Given the description of an element on the screen output the (x, y) to click on. 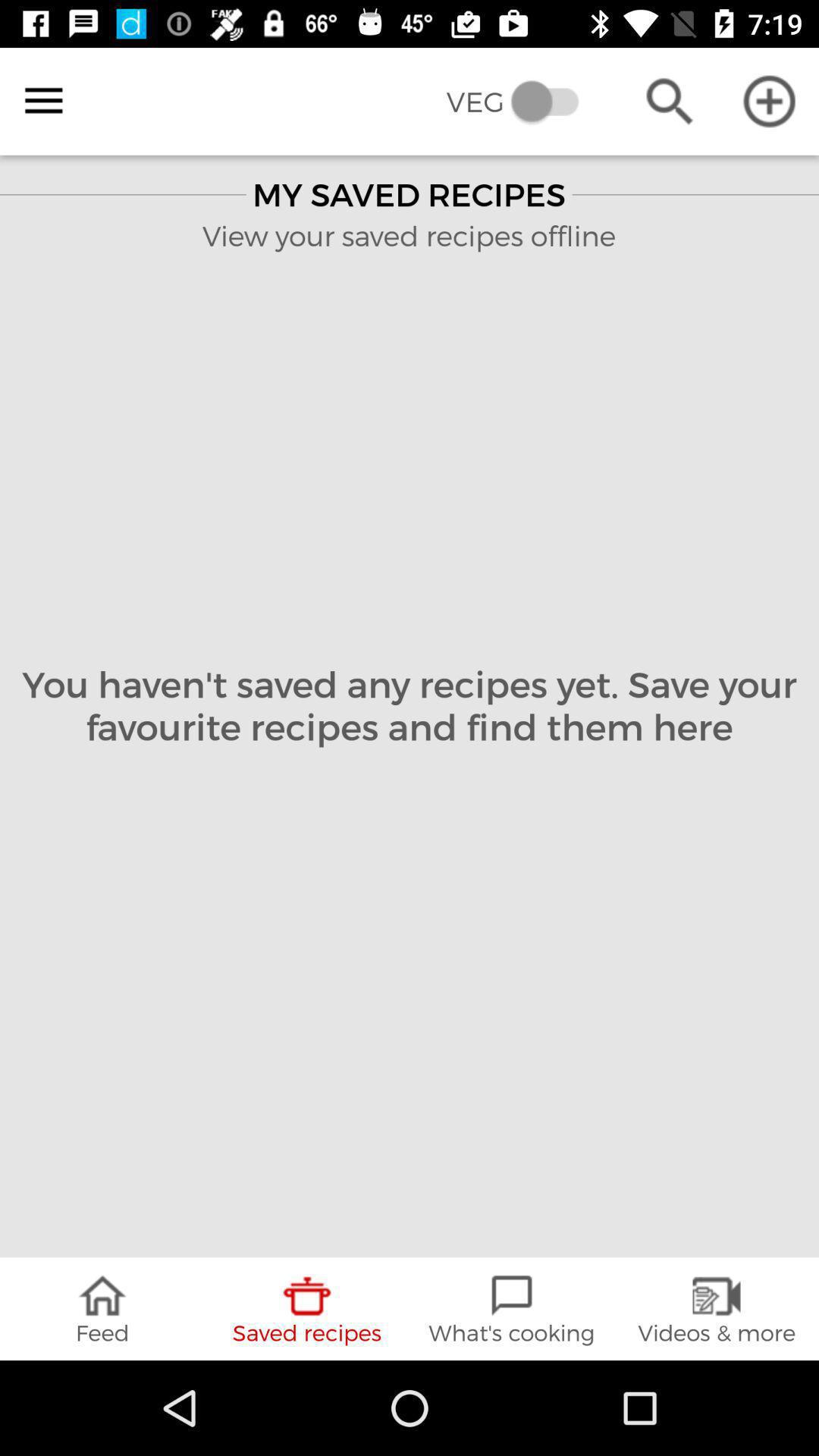
click the icon next to the saved recipes item (511, 1308)
